Given the description of an element on the screen output the (x, y) to click on. 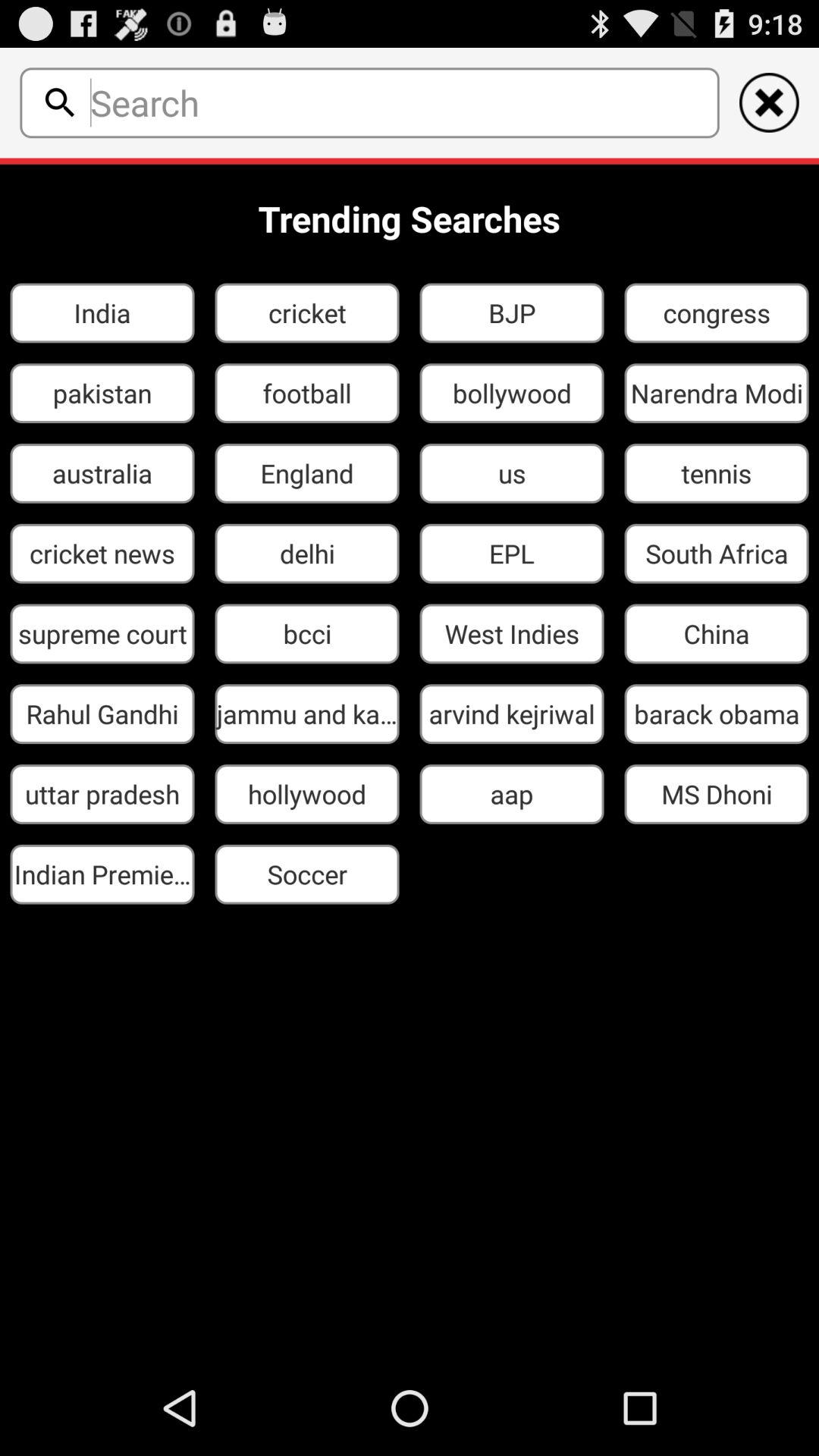
cancelar ao anterior (769, 102)
